Given the description of an element on the screen output the (x, y) to click on. 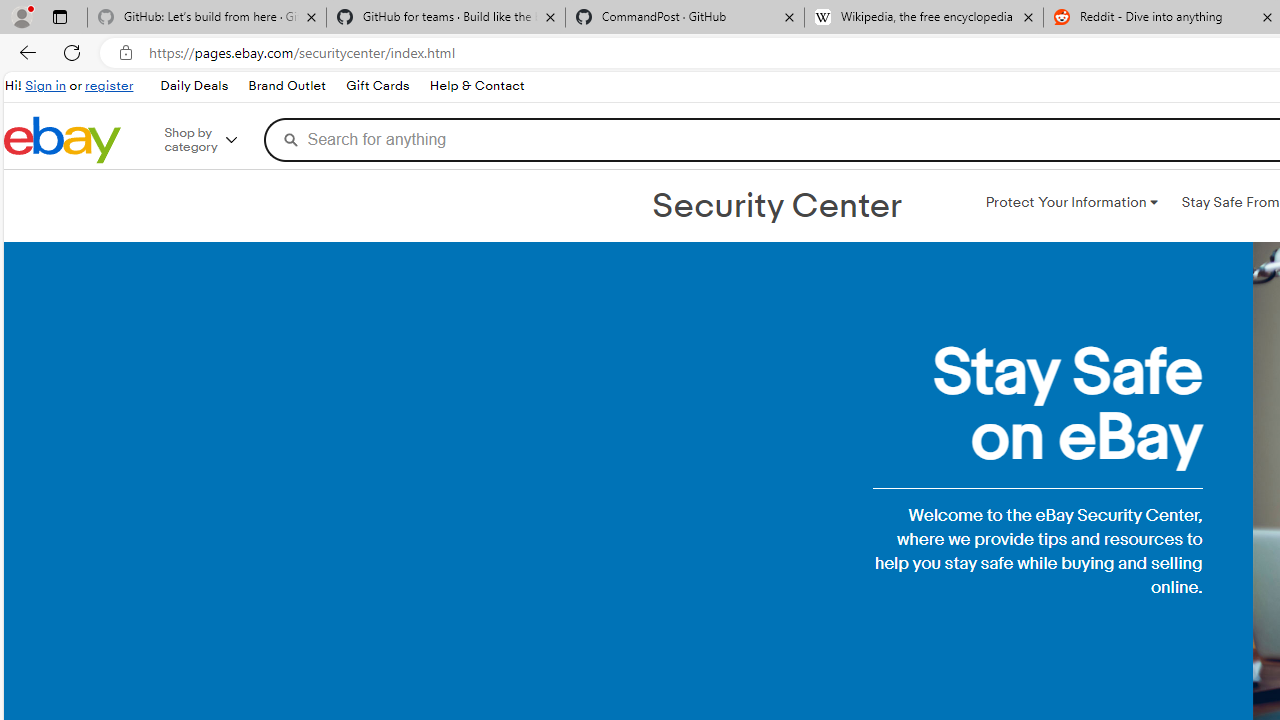
Daily Deals (193, 85)
Brand Outlet (285, 85)
Protect Your Information  (1071, 202)
Gift Cards (376, 85)
Wikipedia, the free encyclopedia (924, 17)
Protect Your Information  (1071, 202)
